Given the description of an element on the screen output the (x, y) to click on. 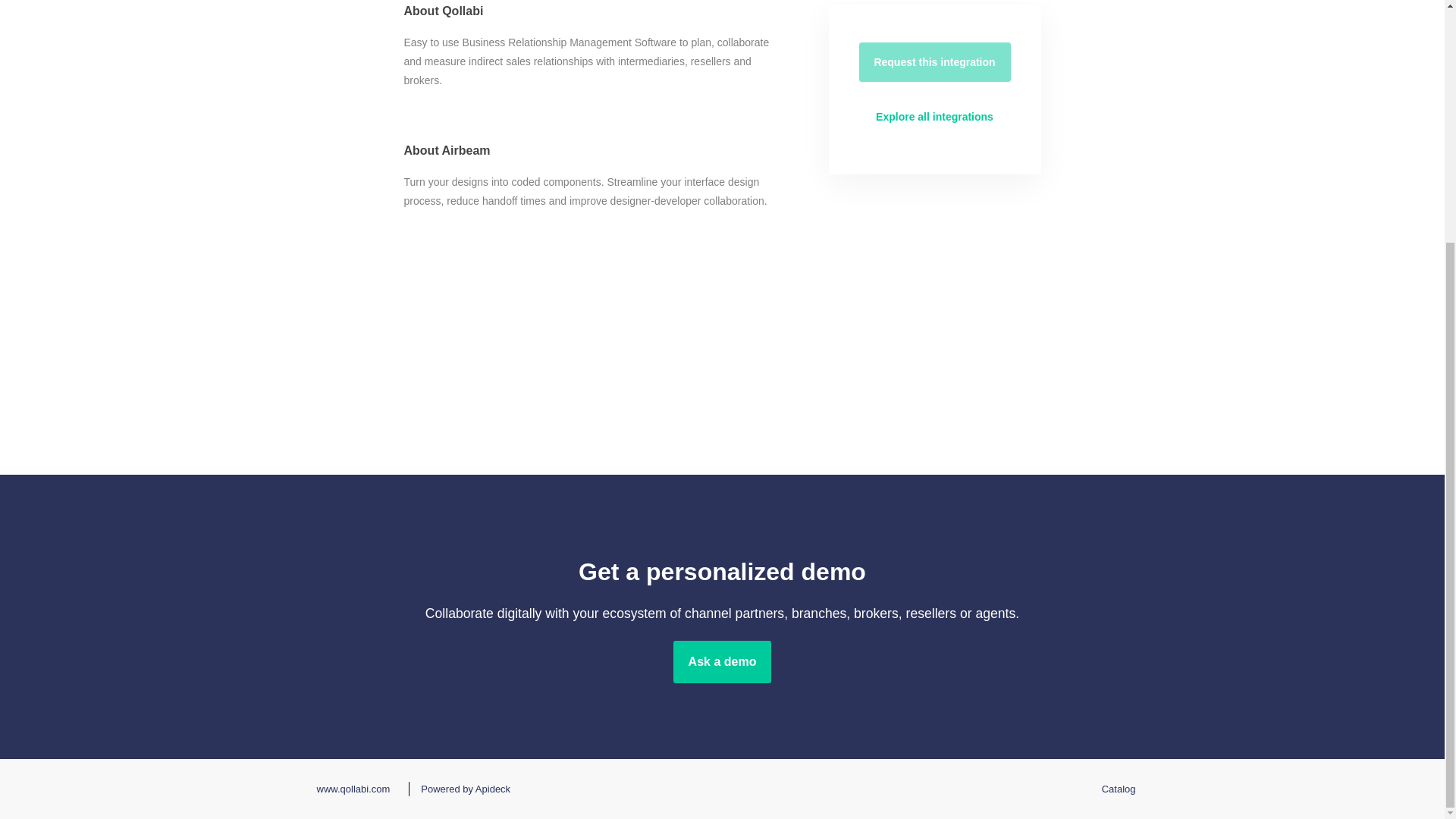
Catalog (1115, 789)
www.qollabi.com (348, 789)
Powered by Apideck (461, 789)
Request this integration (934, 61)
Explore all integrations (934, 116)
Ask a demo (721, 661)
